Given the description of an element on the screen output the (x, y) to click on. 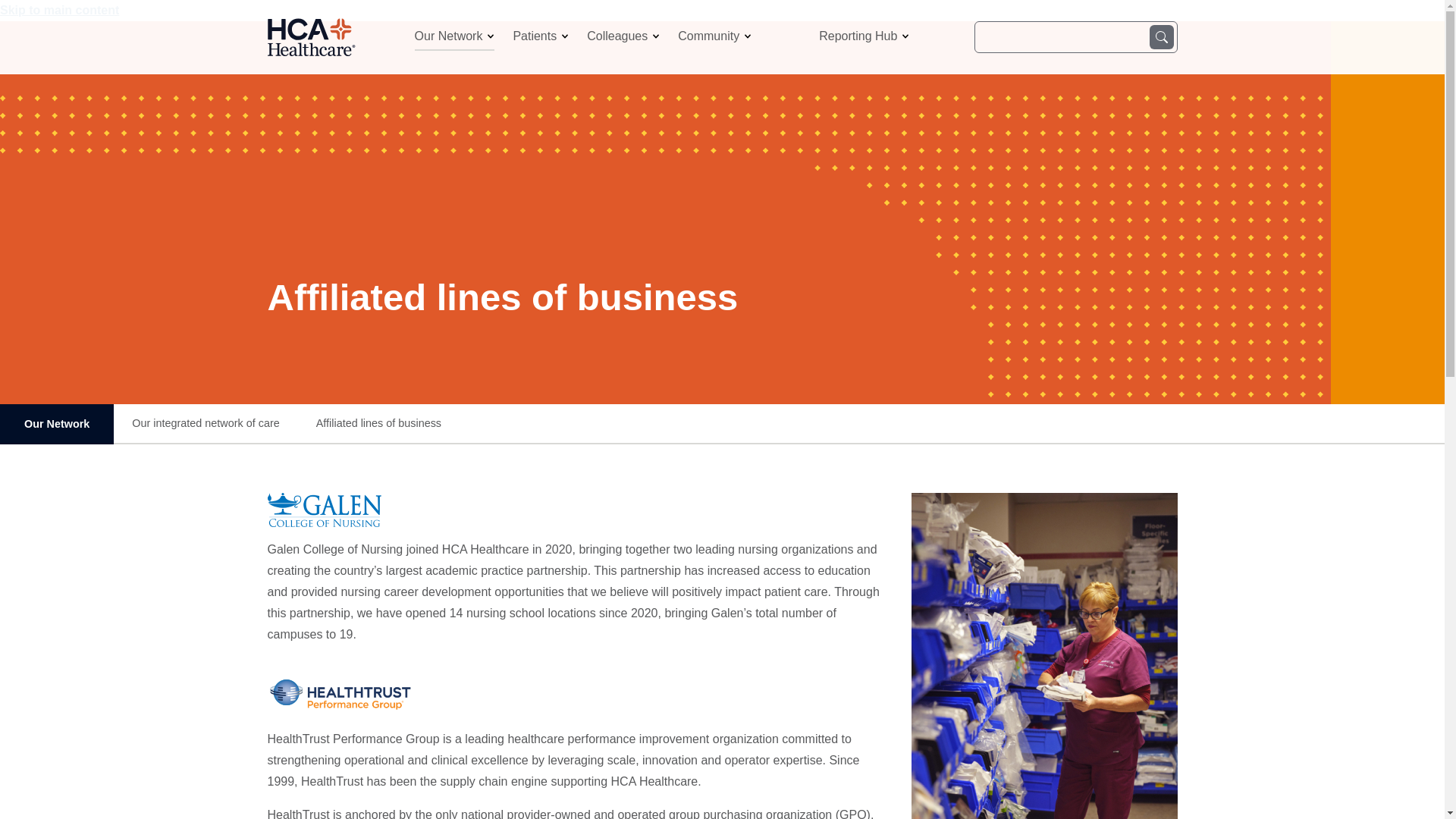
Reporting Hub (863, 36)
Affiliated lines of business (378, 423)
Our integrated network of care (205, 423)
Community (714, 36)
Skip to main content (59, 10)
Search (1161, 37)
Patients (540, 36)
Our Network (454, 36)
Colleagues (622, 36)
